Given the description of an element on the screen output the (x, y) to click on. 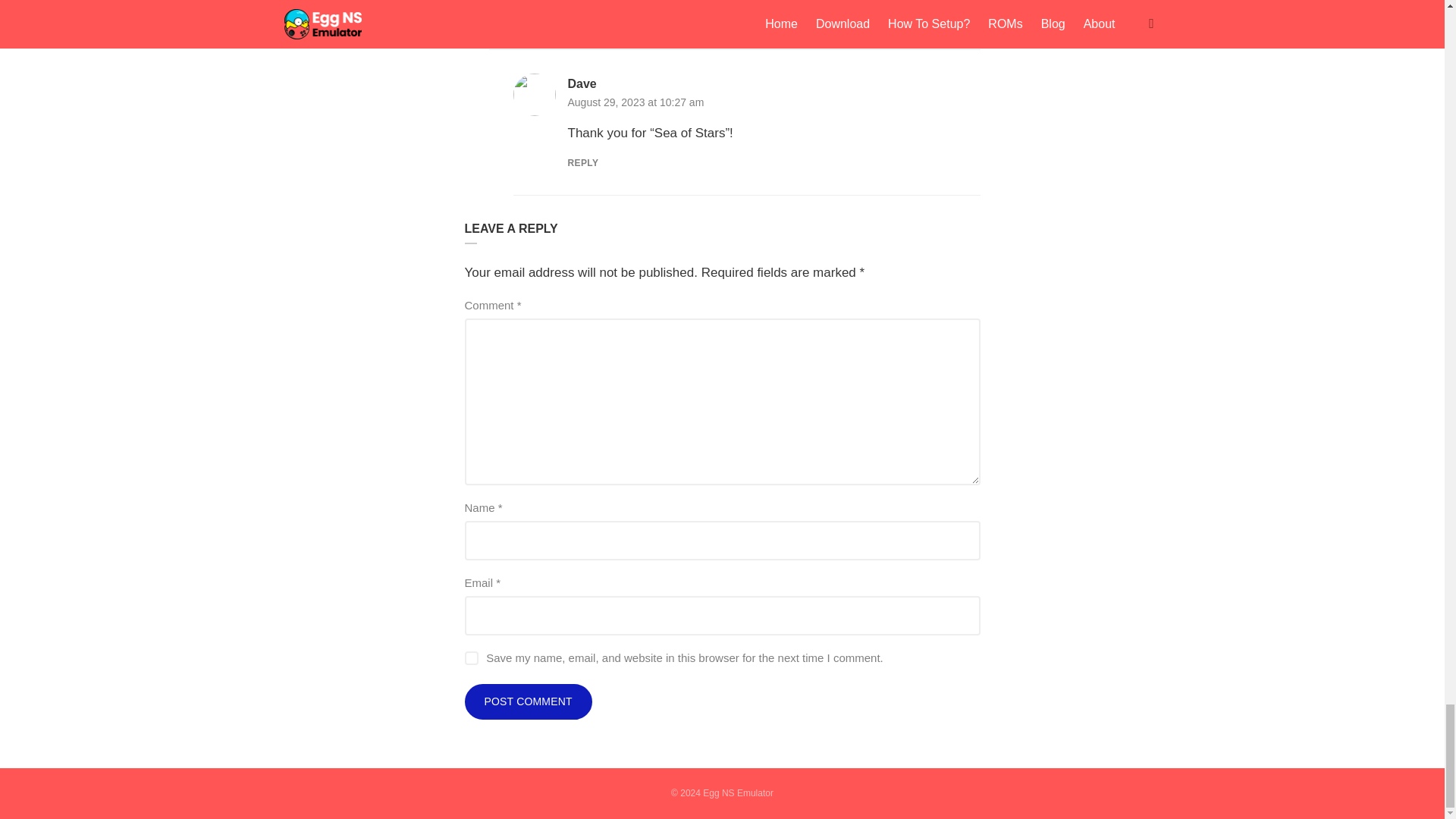
yes (470, 658)
Post Comment (527, 701)
